Given the description of an element on the screen output the (x, y) to click on. 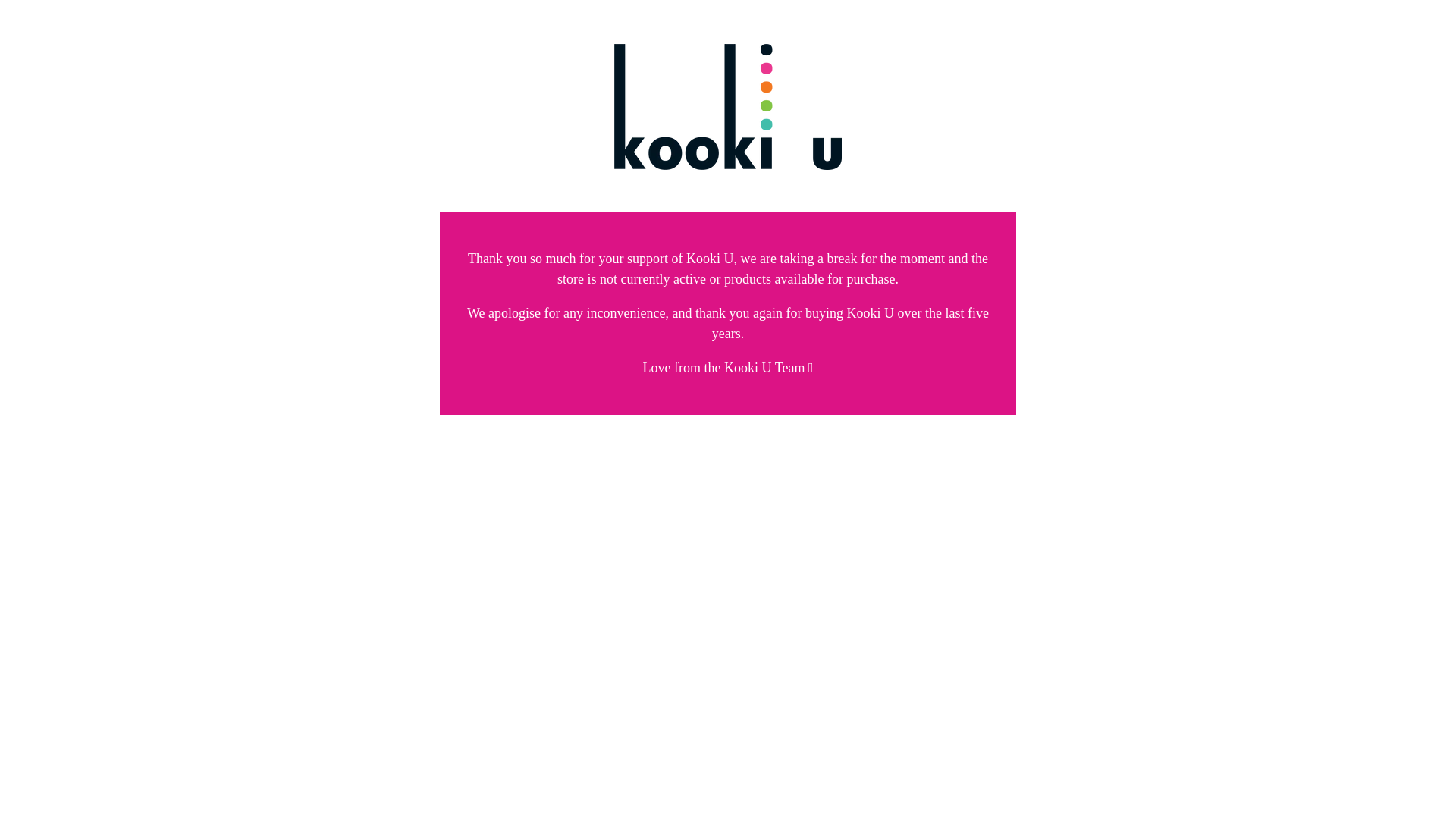
Home Element type: hover (727, 161)
